Given the description of an element on the screen output the (x, y) to click on. 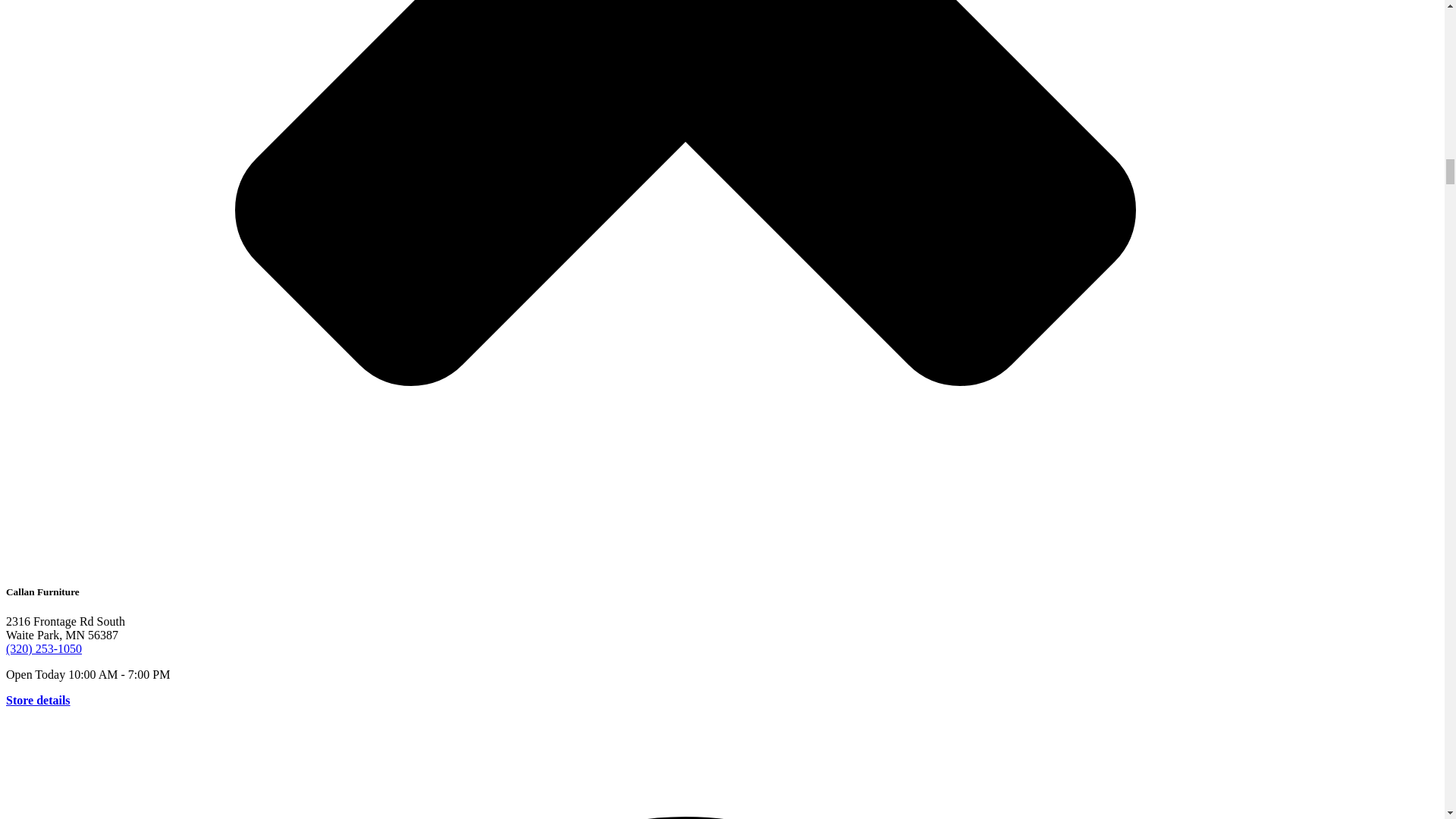
Store details (37, 699)
